Given the description of an element on the screen output the (x, y) to click on. 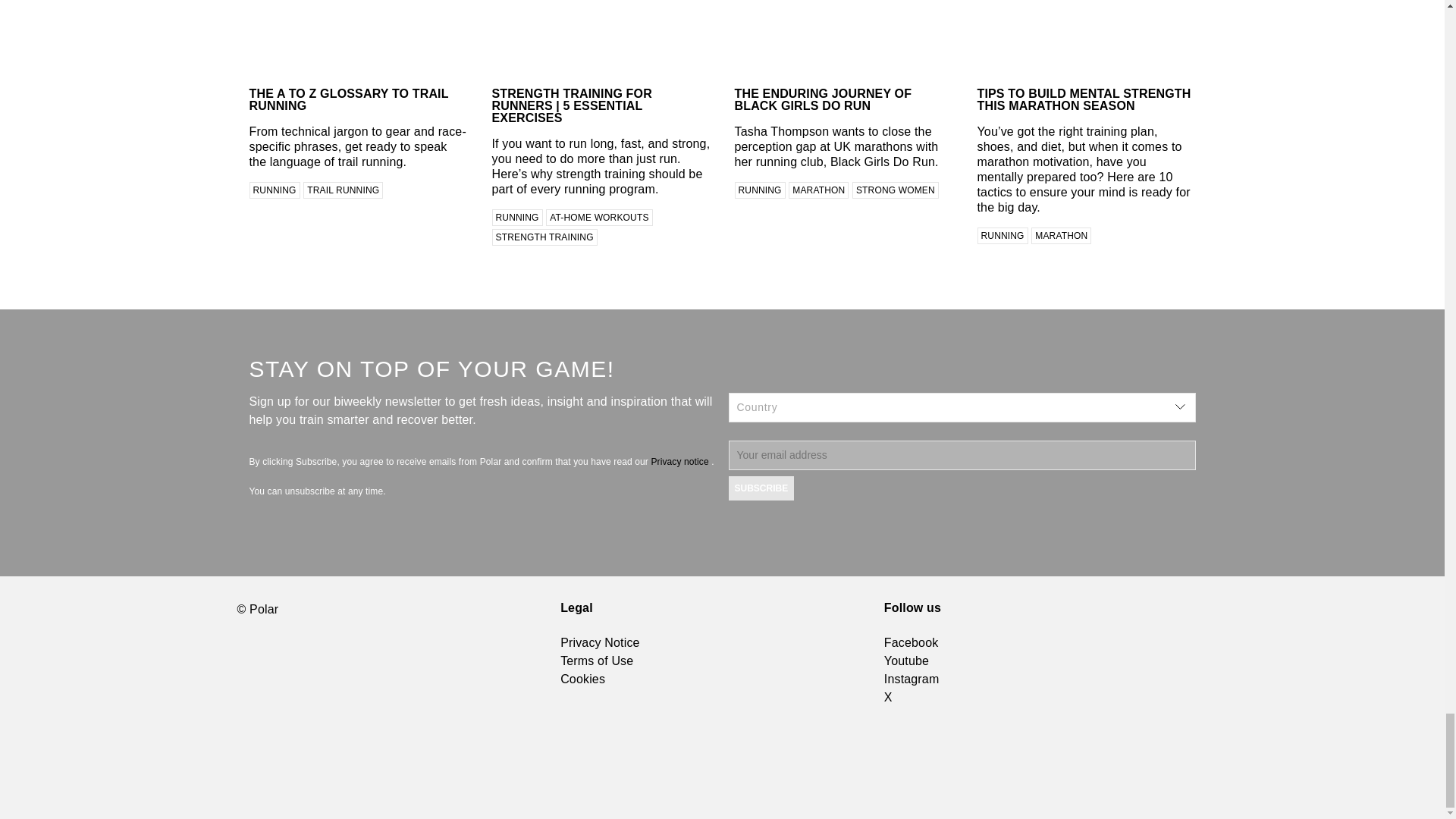
Subscribe (760, 487)
View all posts tagged with Trail Running (342, 190)
View all posts tagged with Marathon (1060, 235)
RUNNING (273, 190)
View all posts tagged with Strong Women (895, 190)
RUNNING (516, 217)
TRAIL RUNNING (342, 190)
View all posts in category Running (1001, 235)
View all posts in category Running (516, 217)
